Given the description of an element on the screen output the (x, y) to click on. 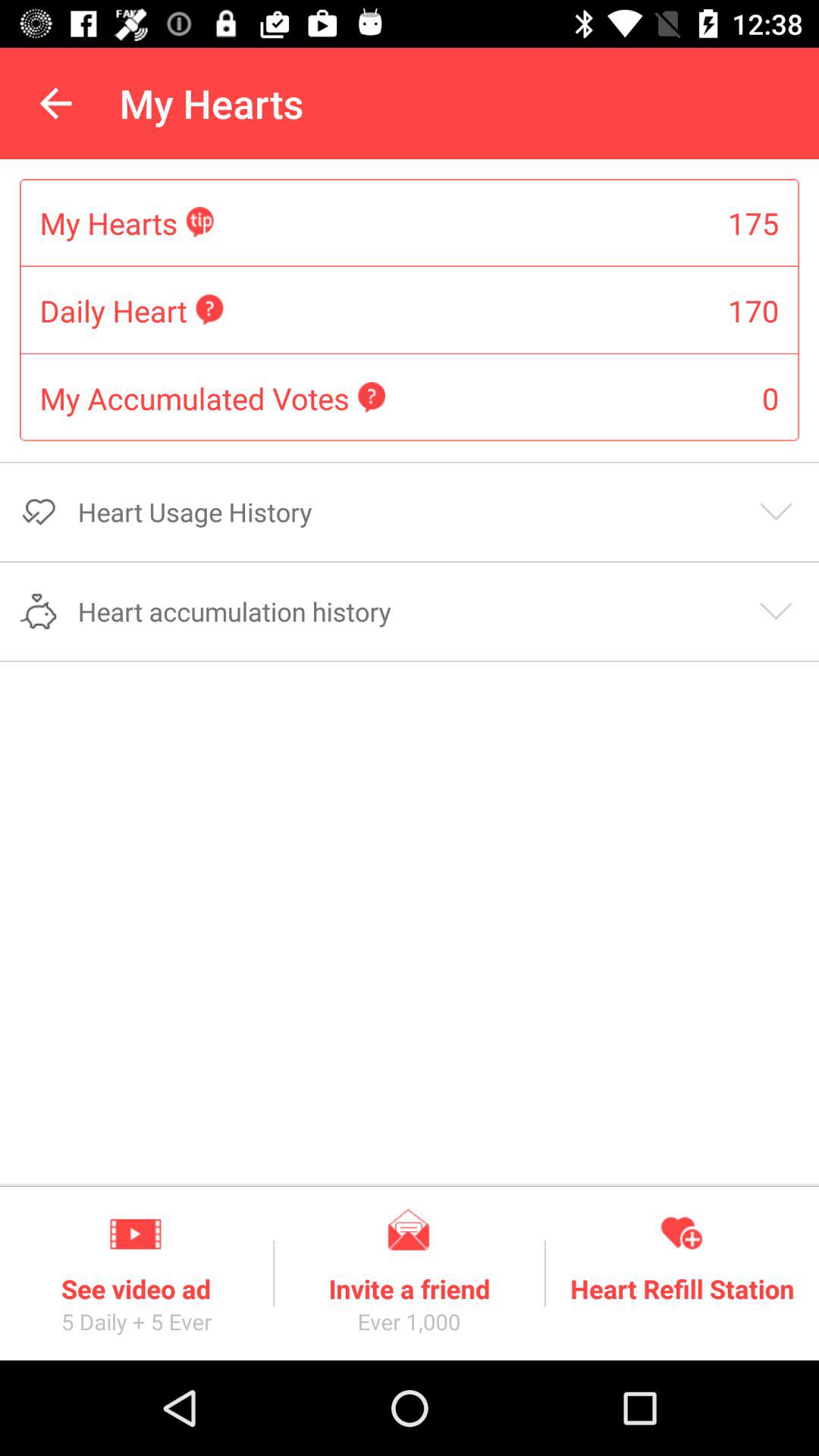
tap icon to the left of my hearts icon (55, 103)
